Given the description of an element on the screen output the (x, y) to click on. 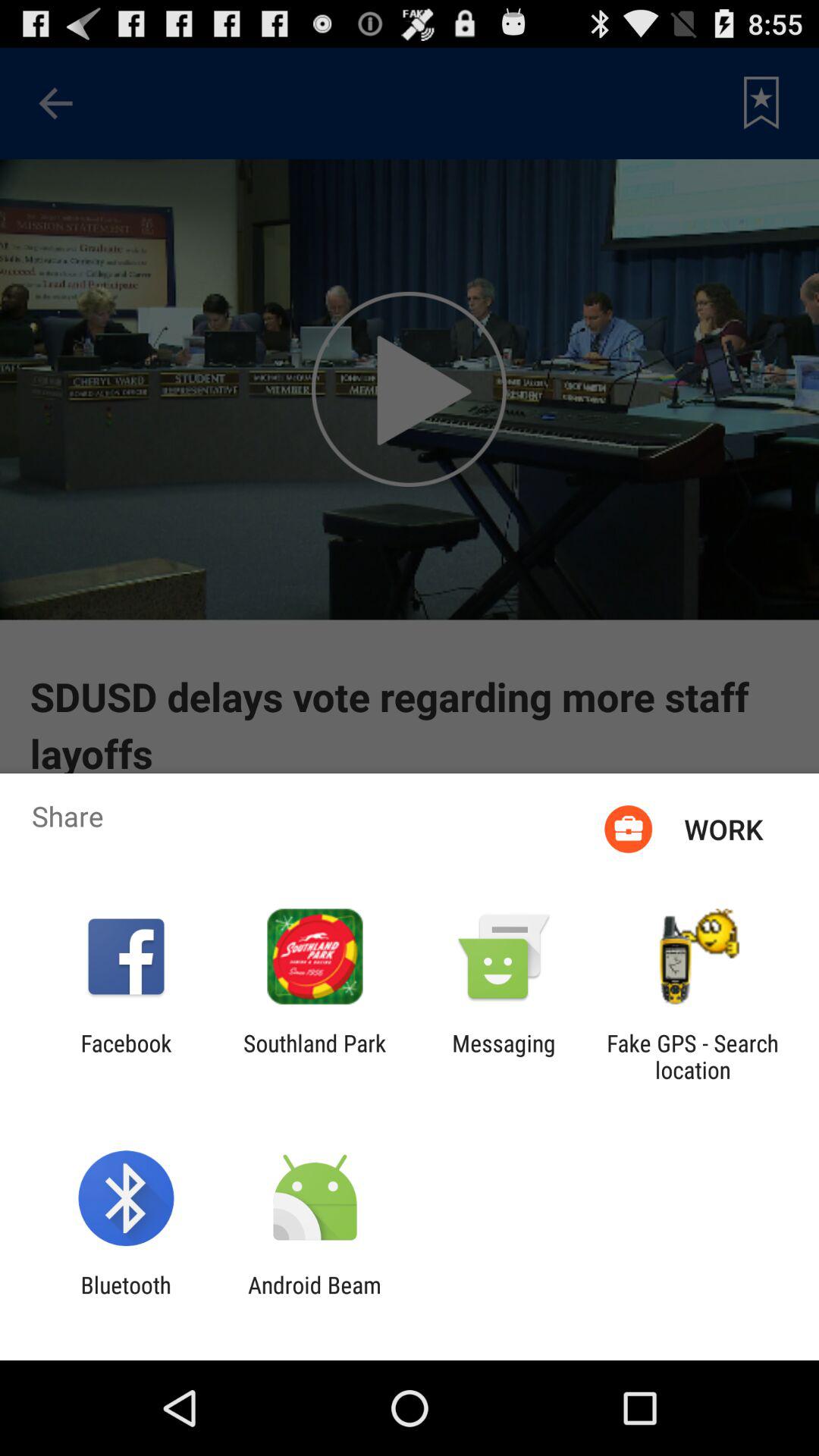
choose item to the right of messaging (692, 1056)
